Given the description of an element on the screen output the (x, y) to click on. 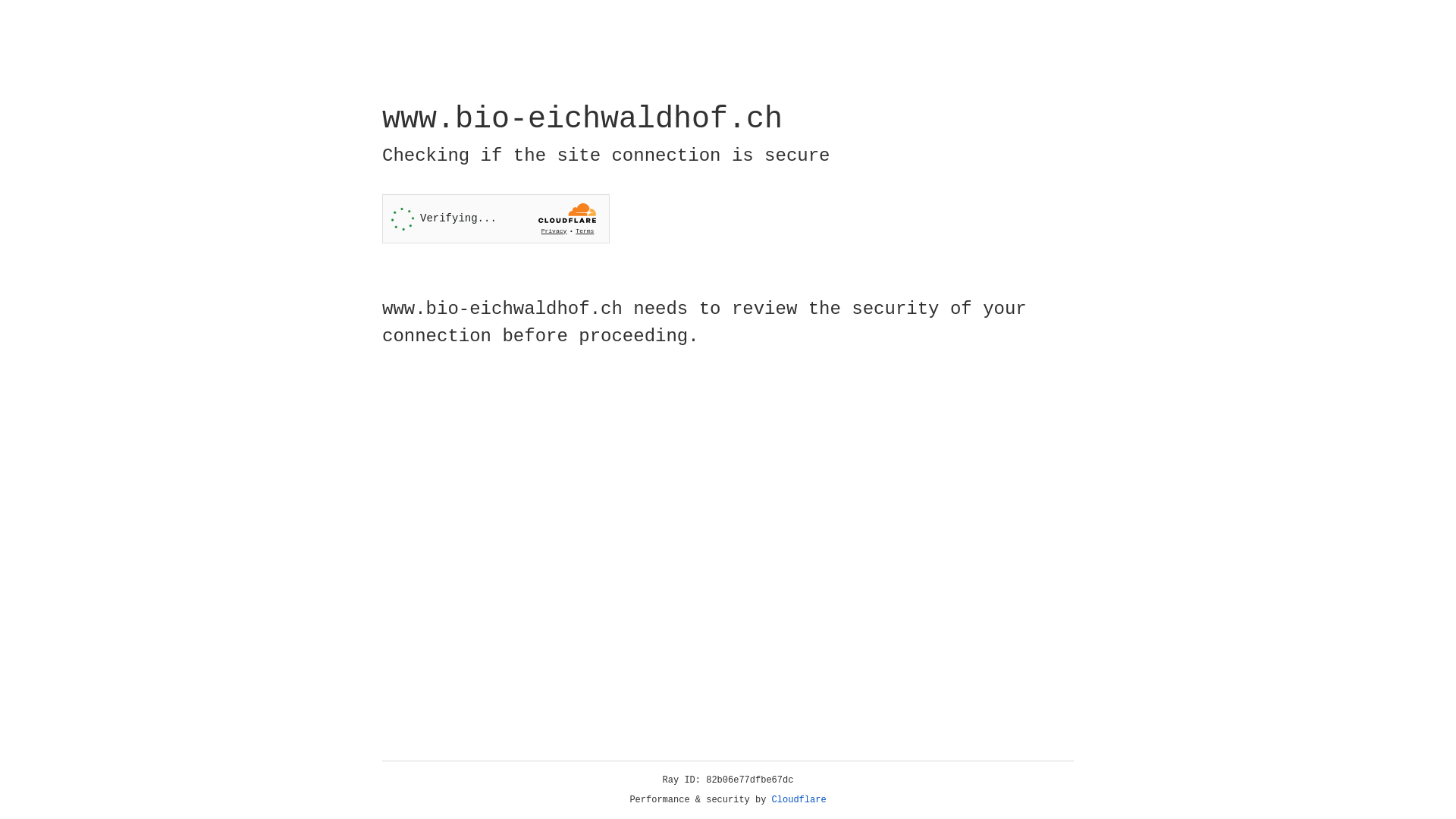
Widget containing a Cloudflare security challenge Element type: hover (495, 218)
Cloudflare Element type: text (798, 799)
